Given the description of an element on the screen output the (x, y) to click on. 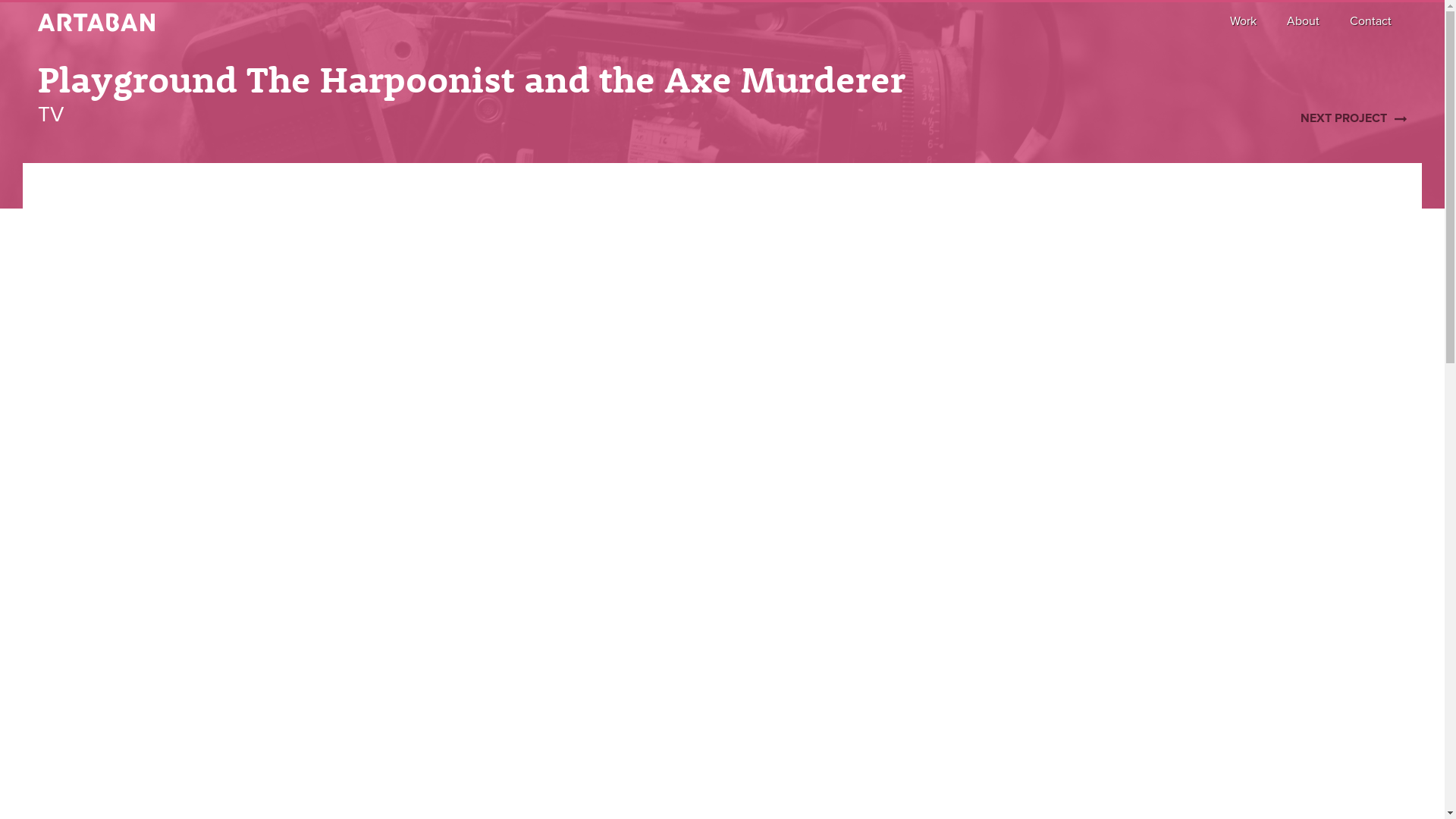
Contact Element type: text (1370, 21)
Work Element type: text (1242, 21)
About Element type: text (1302, 21)
Artaban Element type: text (95, 22)
NEXT PROJECT Element type: text (1353, 117)
